Given the description of an element on the screen output the (x, y) to click on. 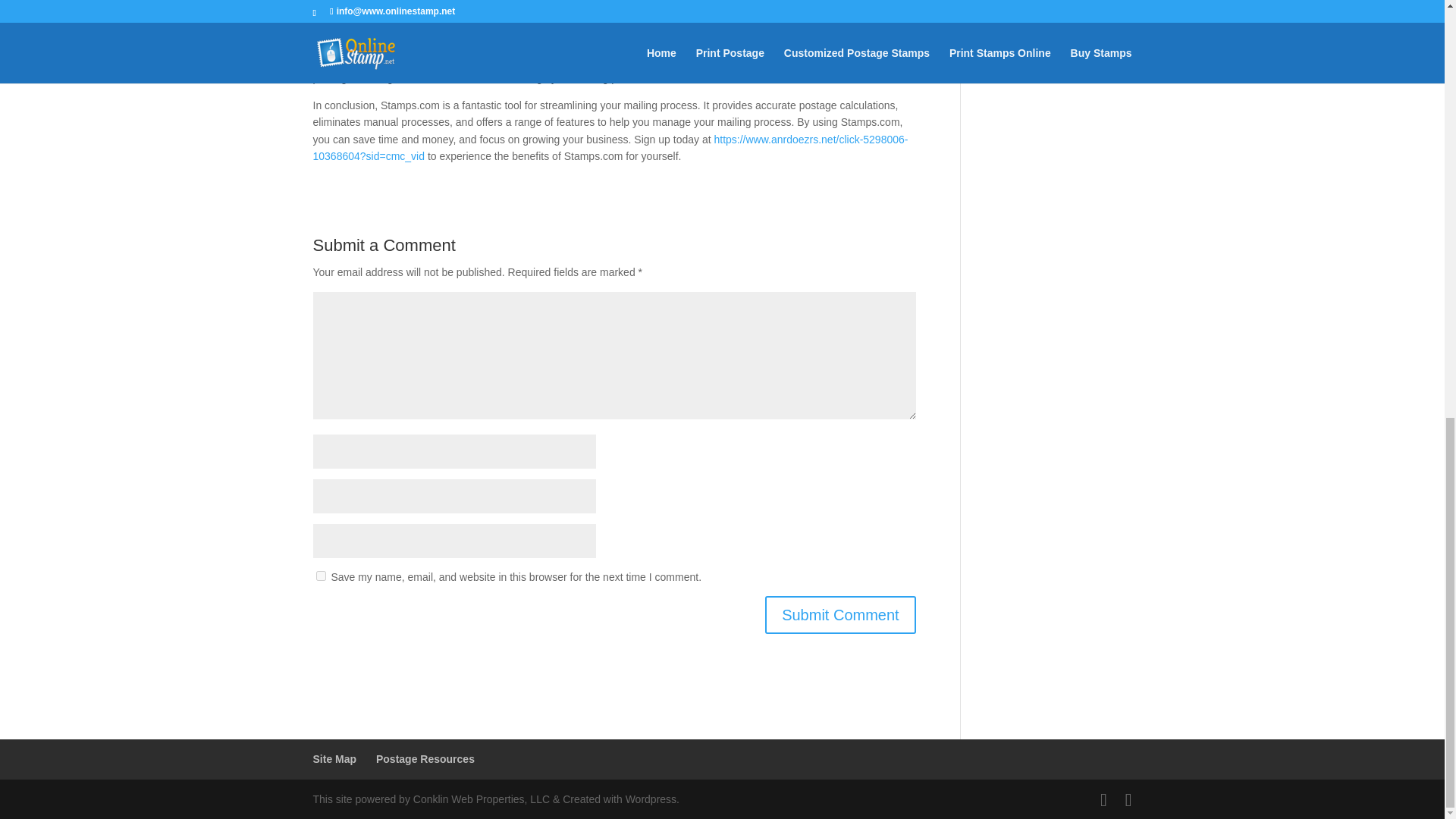
Submit Comment (840, 614)
Site Map (334, 758)
yes (319, 575)
Postage Resources (424, 758)
Submit Comment (840, 614)
